Given the description of an element on the screen output the (x, y) to click on. 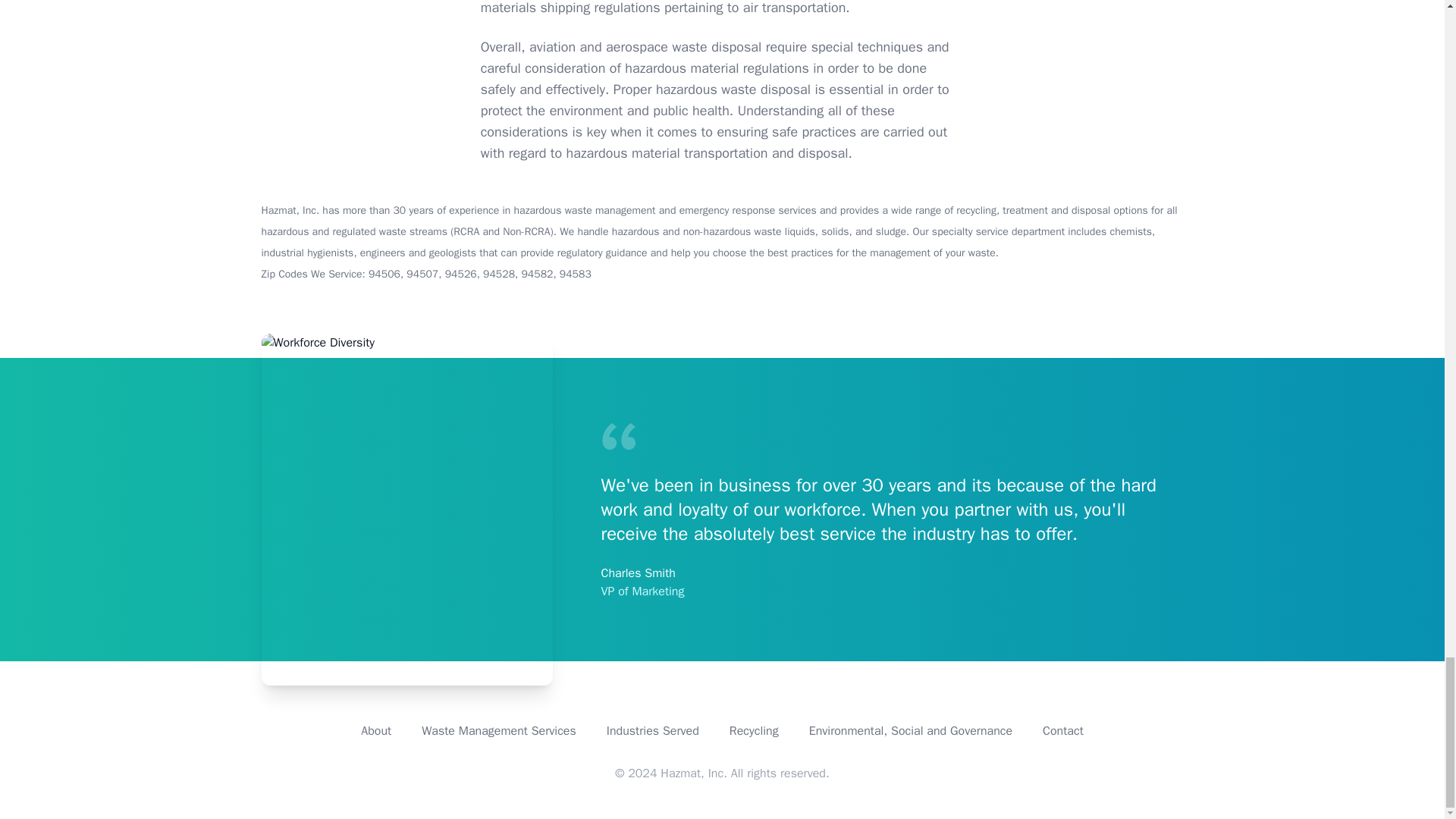
About (376, 730)
Contact (1062, 730)
Recycling (753, 730)
Danville Industries Served (652, 730)
Danville Hazmardous Waste Recycling (753, 730)
About Danville Hazmat Services (376, 730)
Industries Served (652, 730)
Waste Management Services (499, 730)
Environmental, Social and Governance (910, 730)
Danville Hire Hazmat, Inc. to Manage Your Hazardous Waste (1062, 730)
Danville Hazardous Waste Services (499, 730)
Danville Environmental, Social and Governance (910, 730)
